Given the description of an element on the screen output the (x, y) to click on. 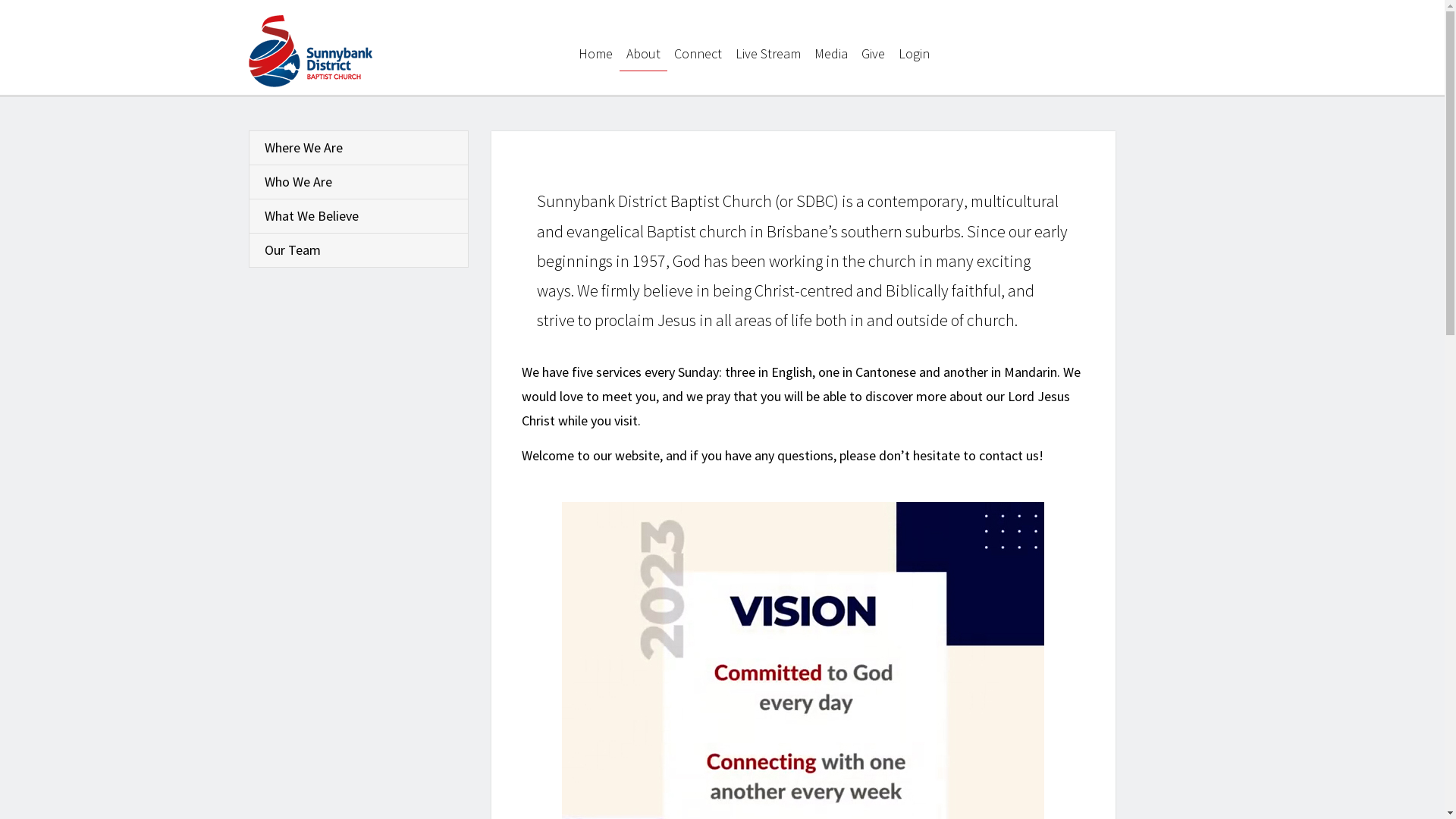
Our Team Element type: text (358, 249)
Who We Are Element type: text (358, 181)
Media Element type: text (830, 53)
Give Element type: text (872, 53)
Connect Element type: text (697, 53)
Where We Are Element type: text (358, 147)
Login Element type: text (913, 53)
About Element type: text (643, 53)
What We Believe Element type: text (358, 215)
Home Element type: text (595, 53)
Live Stream Element type: text (767, 53)
